Given the description of an element on the screen output the (x, y) to click on. 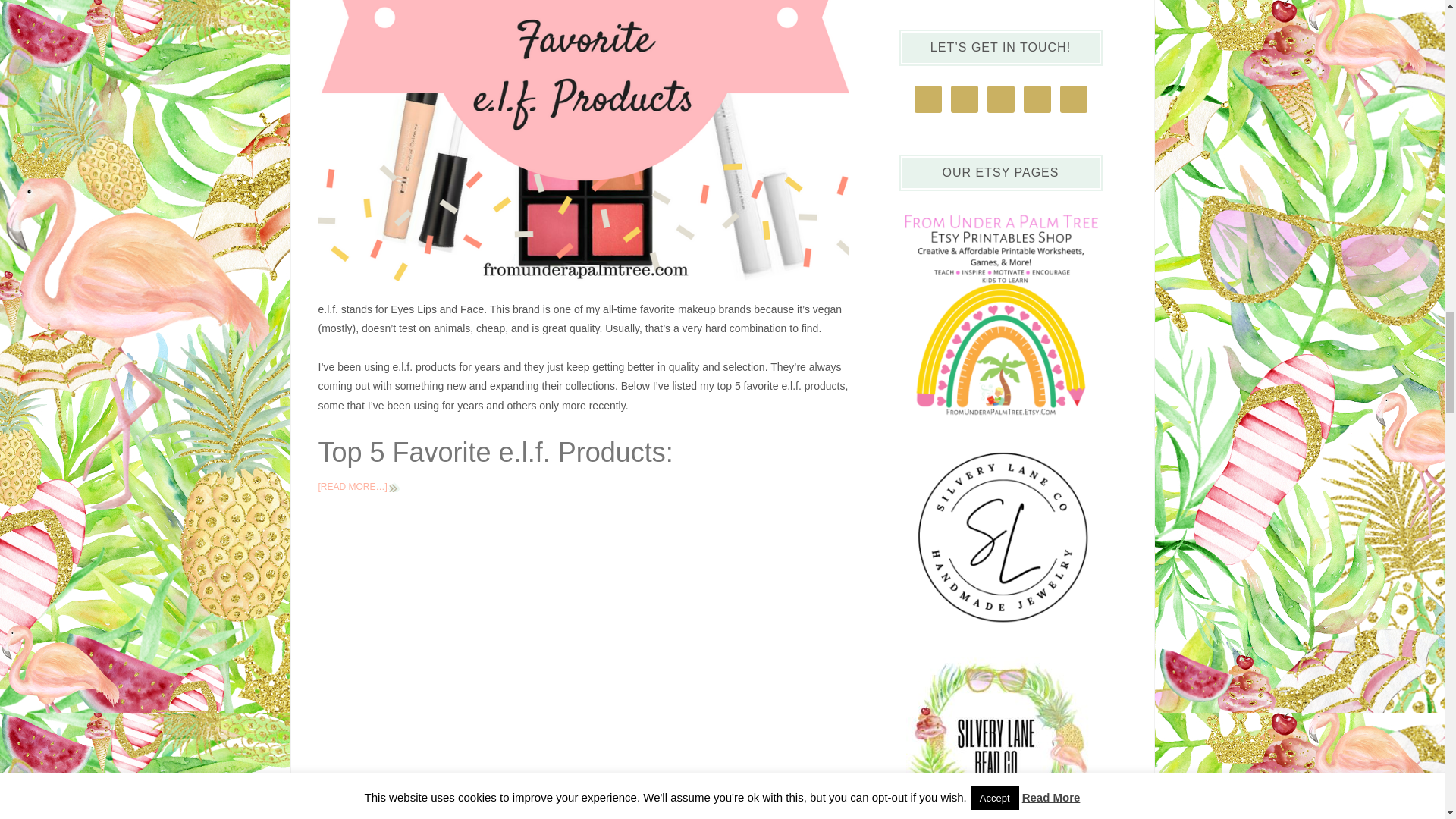
SL Circle Logo NEW-2 (1000, 535)
FUAPT Logo (1000, 422)
